Given the description of an element on the screen output the (x, y) to click on. 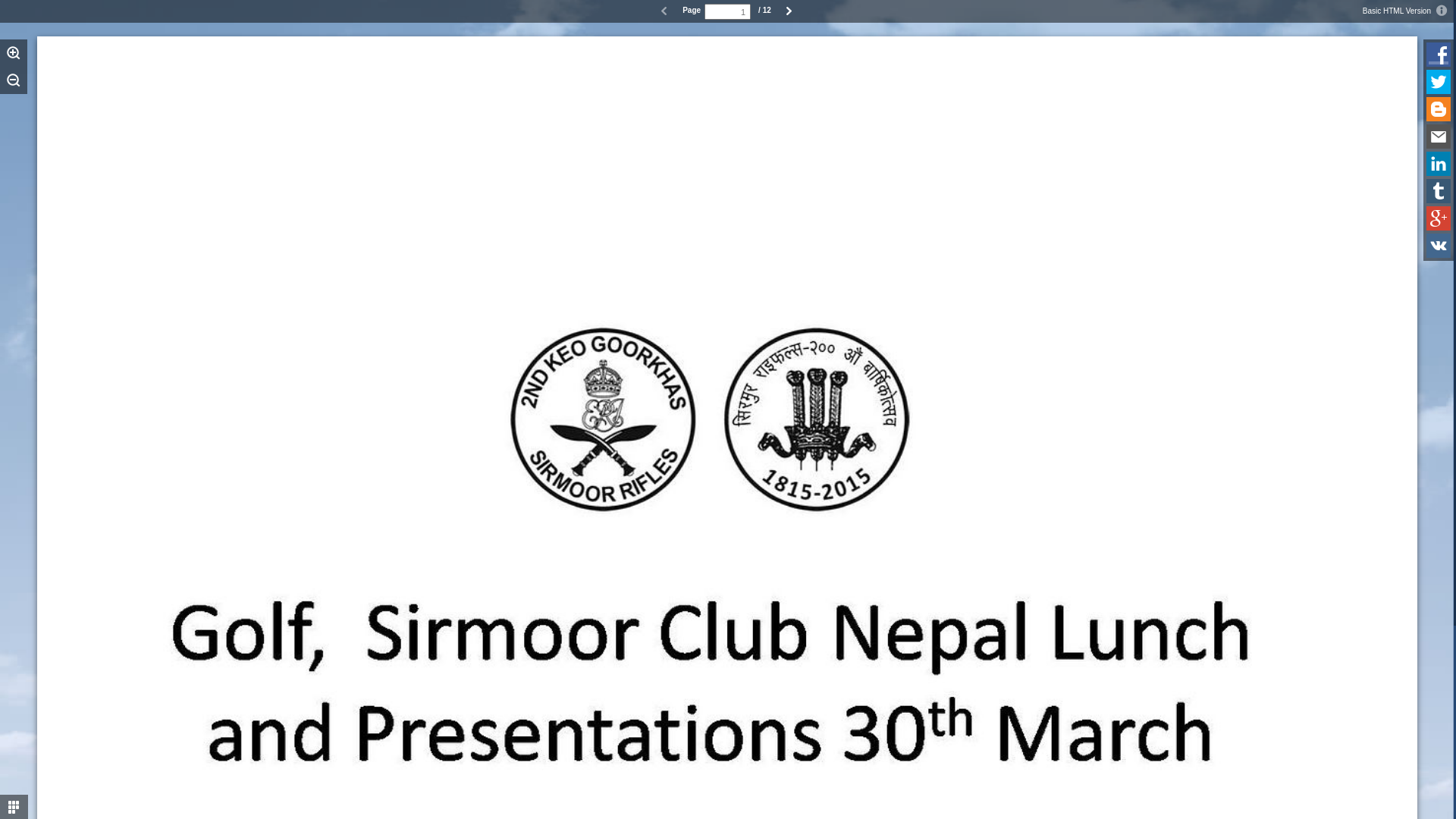
On VK Element type: hover (1438, 245)
On Tumblr Element type: hover (1438, 190)
On Twitter Element type: hover (1438, 81)
On LinkedIn Element type: hover (1438, 163)
On Blogger Element type: hover (1438, 109)
Zoom In Element type: hover (13, 52)
On Google+ Element type: hover (1438, 218)
About Element type: hover (1441, 11)
Zoom Out Element type: hover (13, 80)
Share by E-mail Element type: hover (1438, 136)
On Facebook Element type: hover (1438, 54)
